Given the description of an element on the screen output the (x, y) to click on. 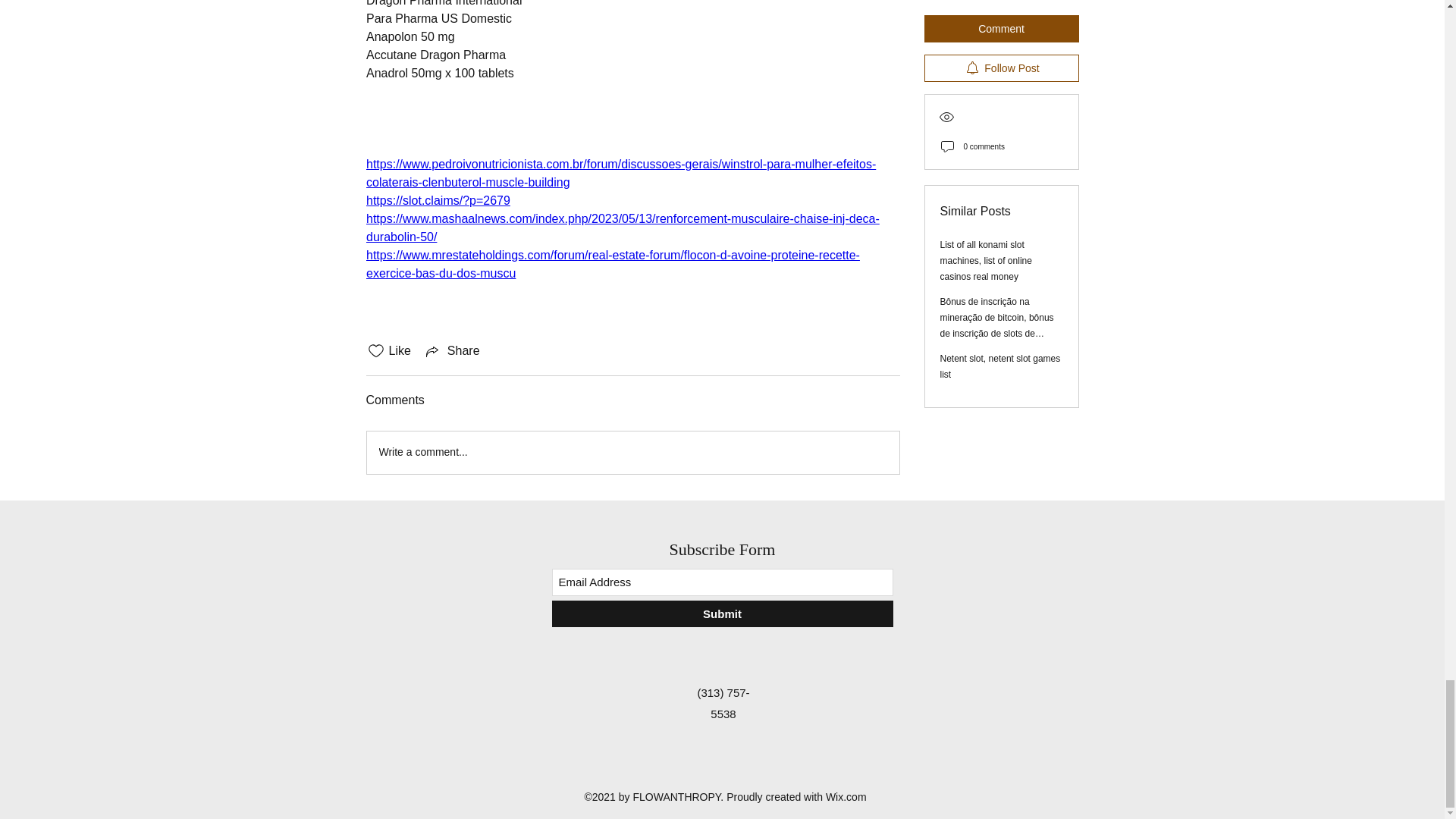
Share (451, 351)
Submit (722, 613)
Write a comment... (632, 452)
